Given the description of an element on the screen output the (x, y) to click on. 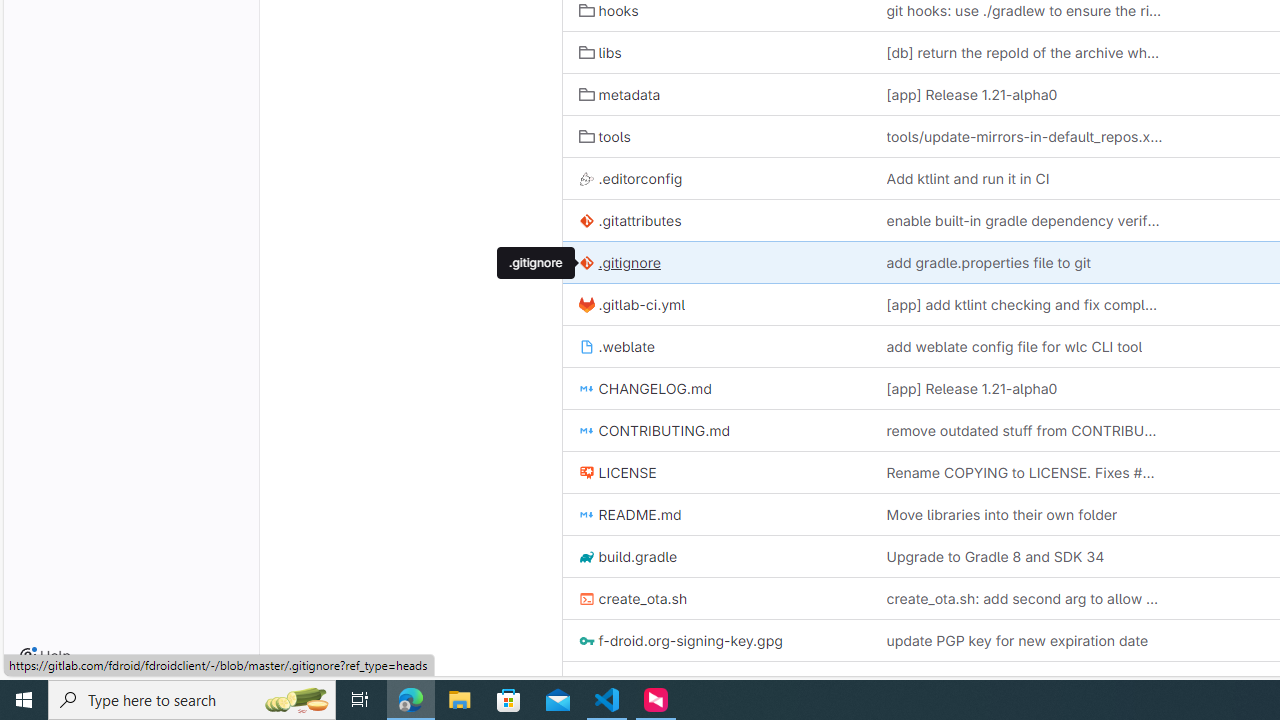
CHANGELOG.md (644, 389)
Upgrade to Gradle 8 and SDK 34 (1024, 556)
.editorconfig (715, 178)
.weblate (715, 345)
README.md (630, 514)
enable built-in gradle dependency verification (1024, 220)
